Given the description of an element on the screen output the (x, y) to click on. 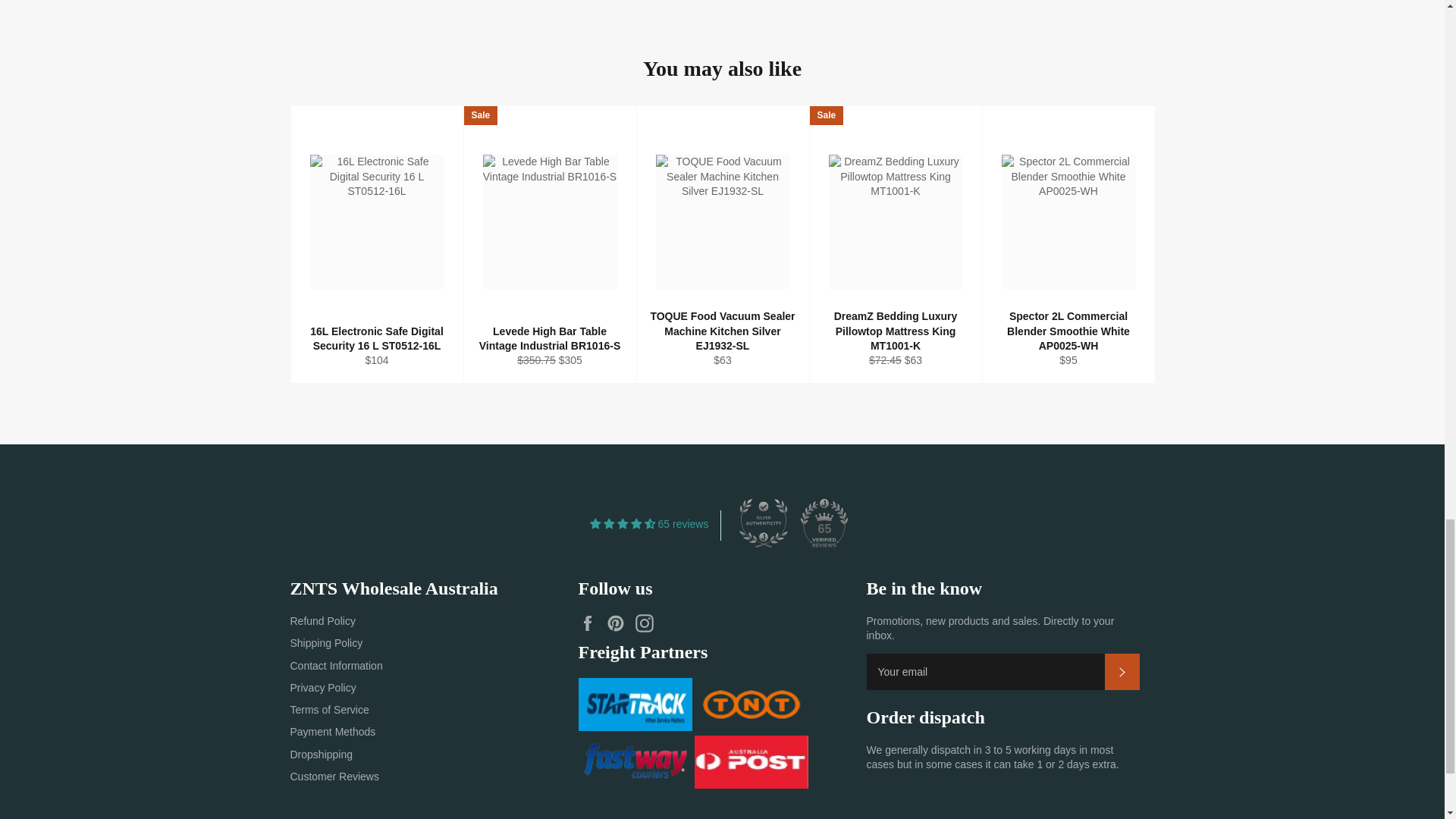
ZNTS Wholesale Australia on Instagram (647, 623)
ZNTS Wholesale Australia on Pinterest (619, 623)
ZNTS Wholesale Australia on Facebook (591, 623)
